Given the description of an element on the screen output the (x, y) to click on. 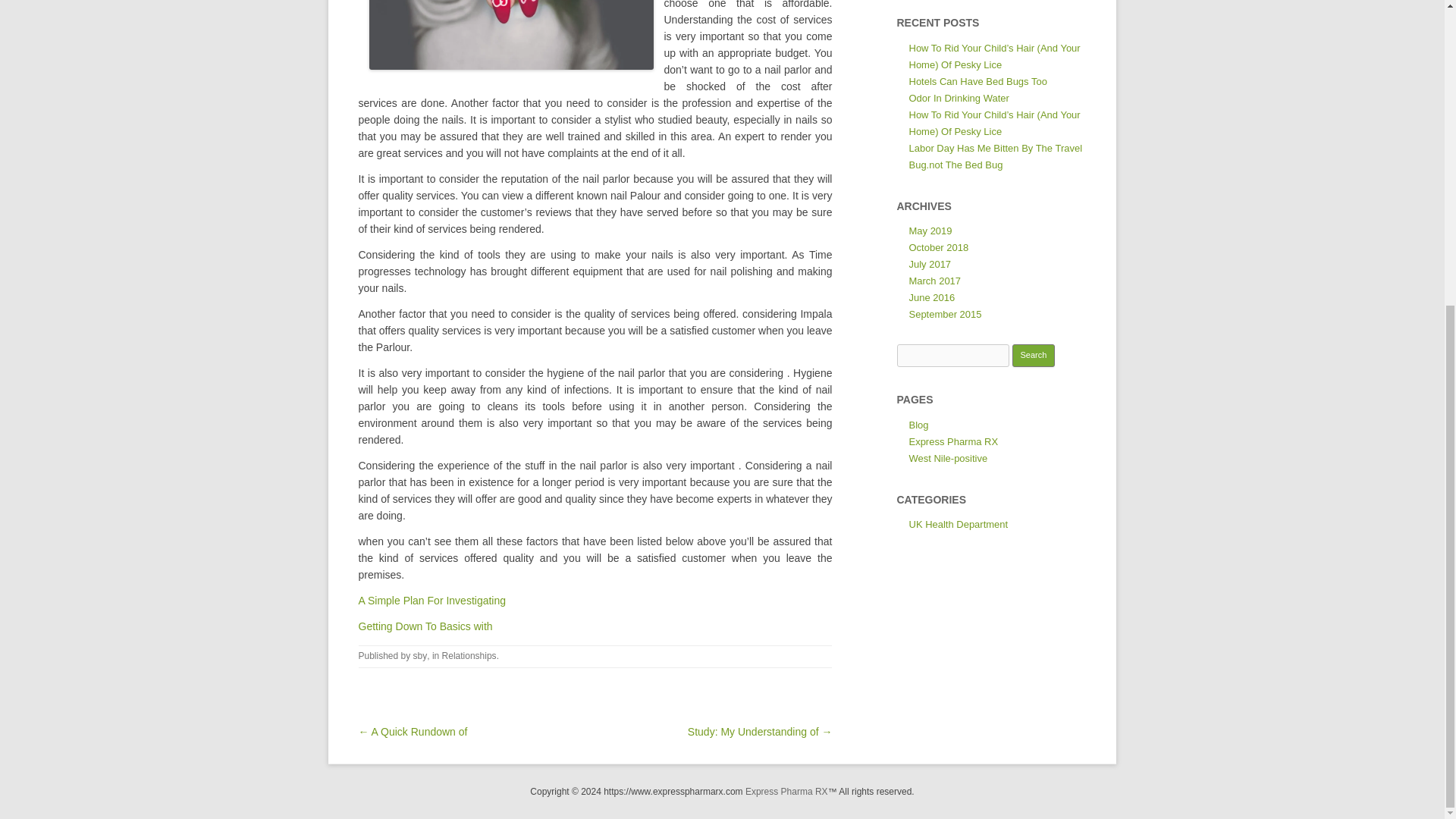
September 2015 (944, 314)
View all posts by sby (420, 655)
Relationships (469, 655)
Getting Down To Basics with (425, 625)
Express Pharma RX (952, 441)
Odor In Drinking Water (958, 98)
UK Health Department (957, 523)
sby (420, 655)
March 2017 (934, 280)
Search (1033, 354)
